Given the description of an element on the screen output the (x, y) to click on. 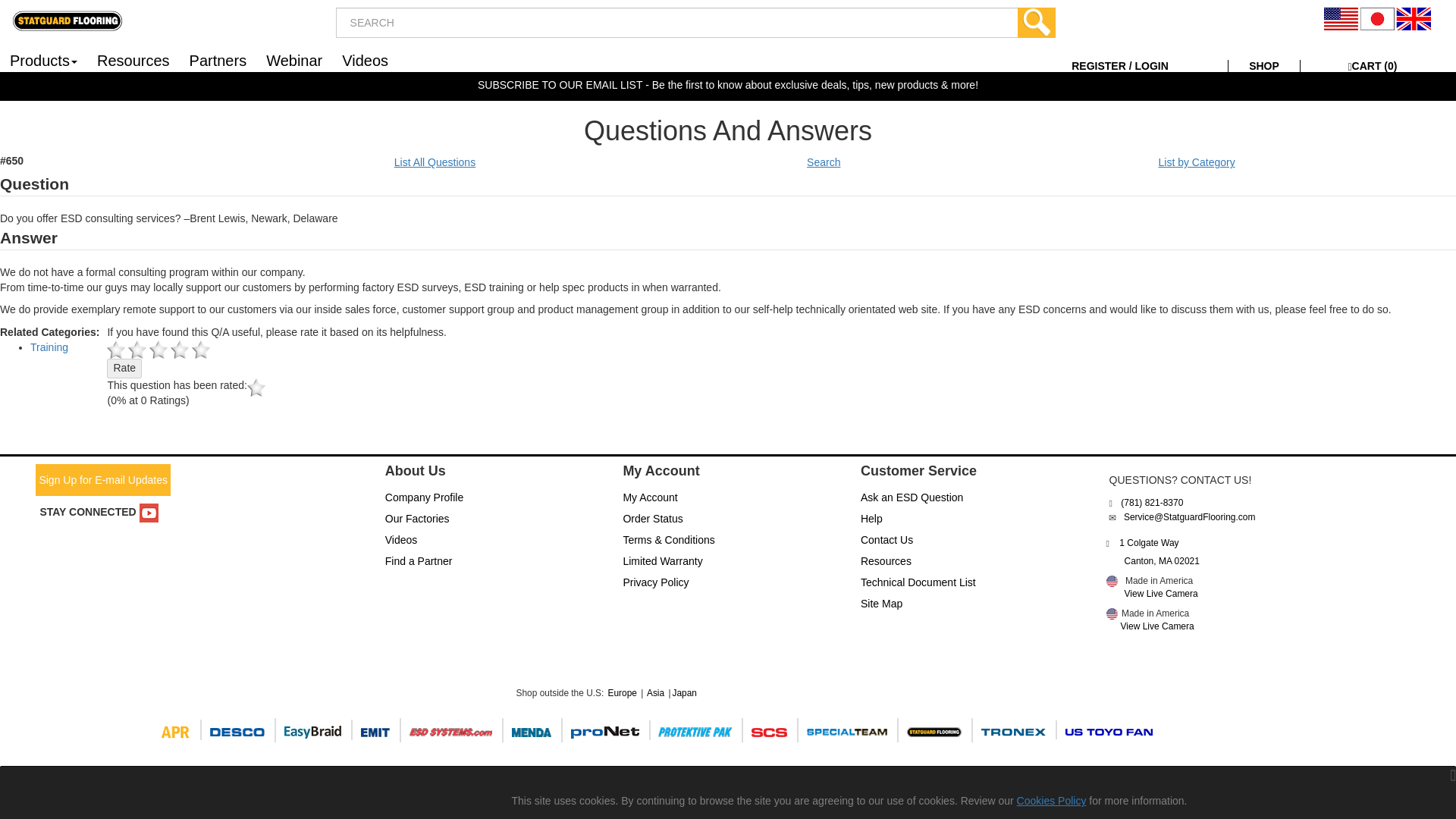
Statguard Flooring (936, 730)
Webinar (293, 59)
Desco Industries (1112, 581)
APR (177, 729)
SHOP (1264, 65)
ProNet (607, 730)
Products (43, 59)
EasyBraid (314, 729)
Videos (364, 59)
Click to Search (1036, 22)
ESD Systems.com (452, 730)
Rate (123, 368)
Special Team (849, 730)
SGF Logo - Click here to return to home page (66, 20)
